Given the description of an element on the screen output the (x, y) to click on. 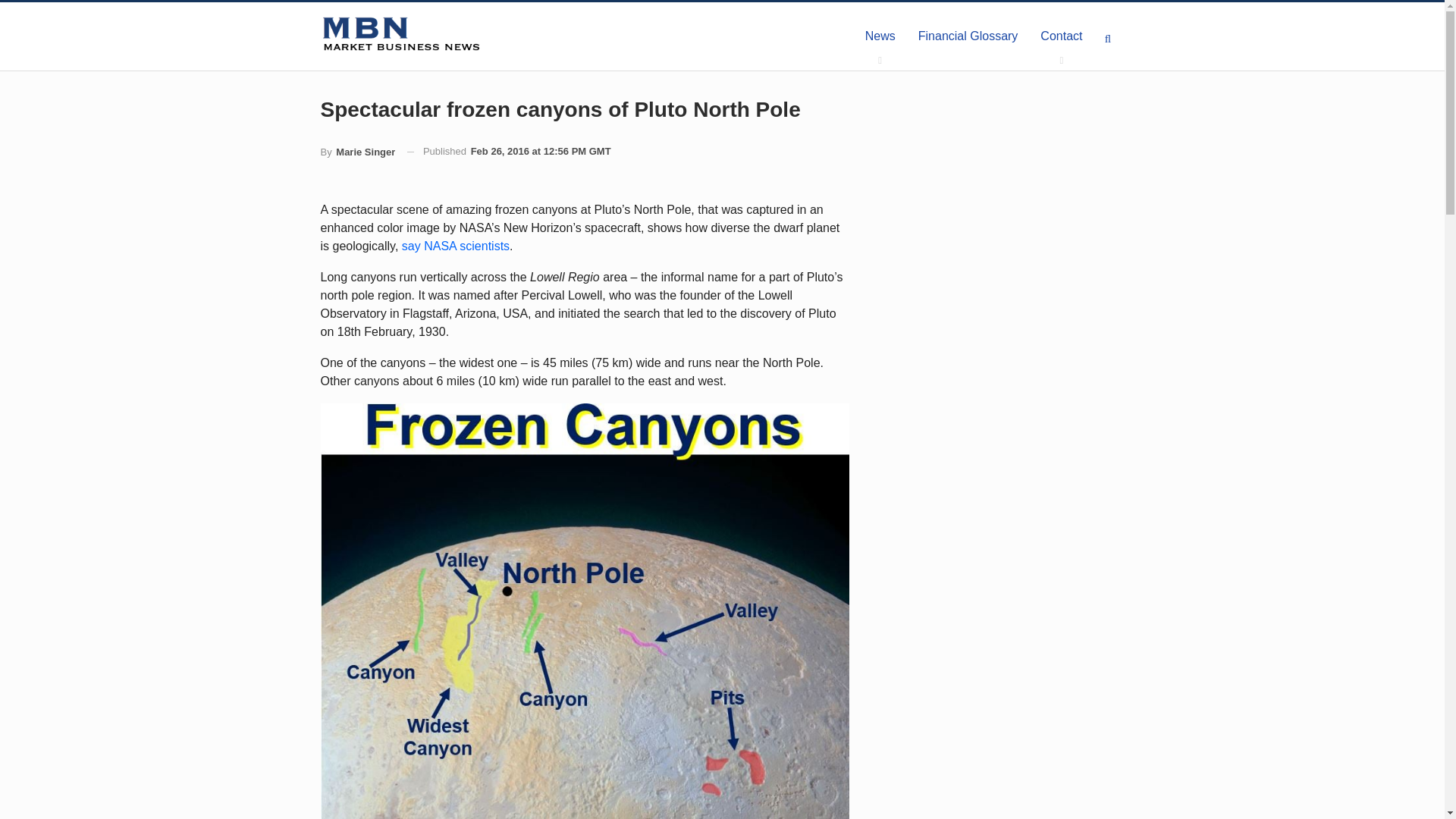
By Marie Singer (357, 152)
Browse Author Articles (357, 152)
say NASA scientists (455, 245)
Financial Glossary (968, 36)
Contact (1061, 36)
